Given the description of an element on the screen output the (x, y) to click on. 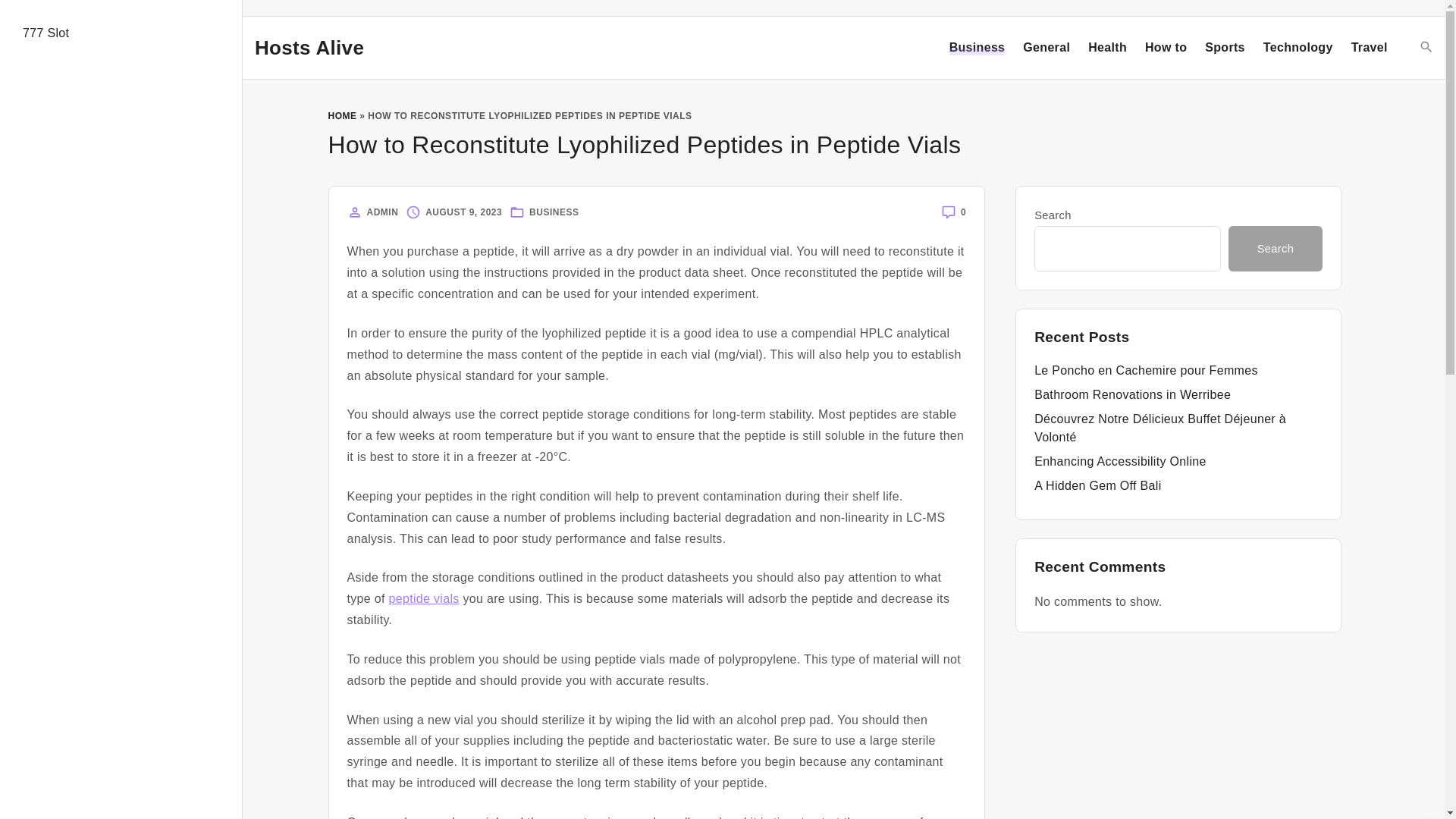
HOME (341, 115)
General (1046, 47)
Search (1275, 248)
How to (1165, 47)
Sports (1224, 47)
Bathroom Renovations in Werribee (1131, 394)
Le Poncho en Cachemire pour Femmes (1145, 369)
Enhancing Accessibility Online (1120, 461)
Business (977, 47)
BUSINESS (553, 212)
A Hidden Gem Off Bali (1096, 485)
0 (963, 212)
Technology (1298, 47)
Hosts Alive (309, 47)
777 Slot (45, 32)
